Given the description of an element on the screen output the (x, y) to click on. 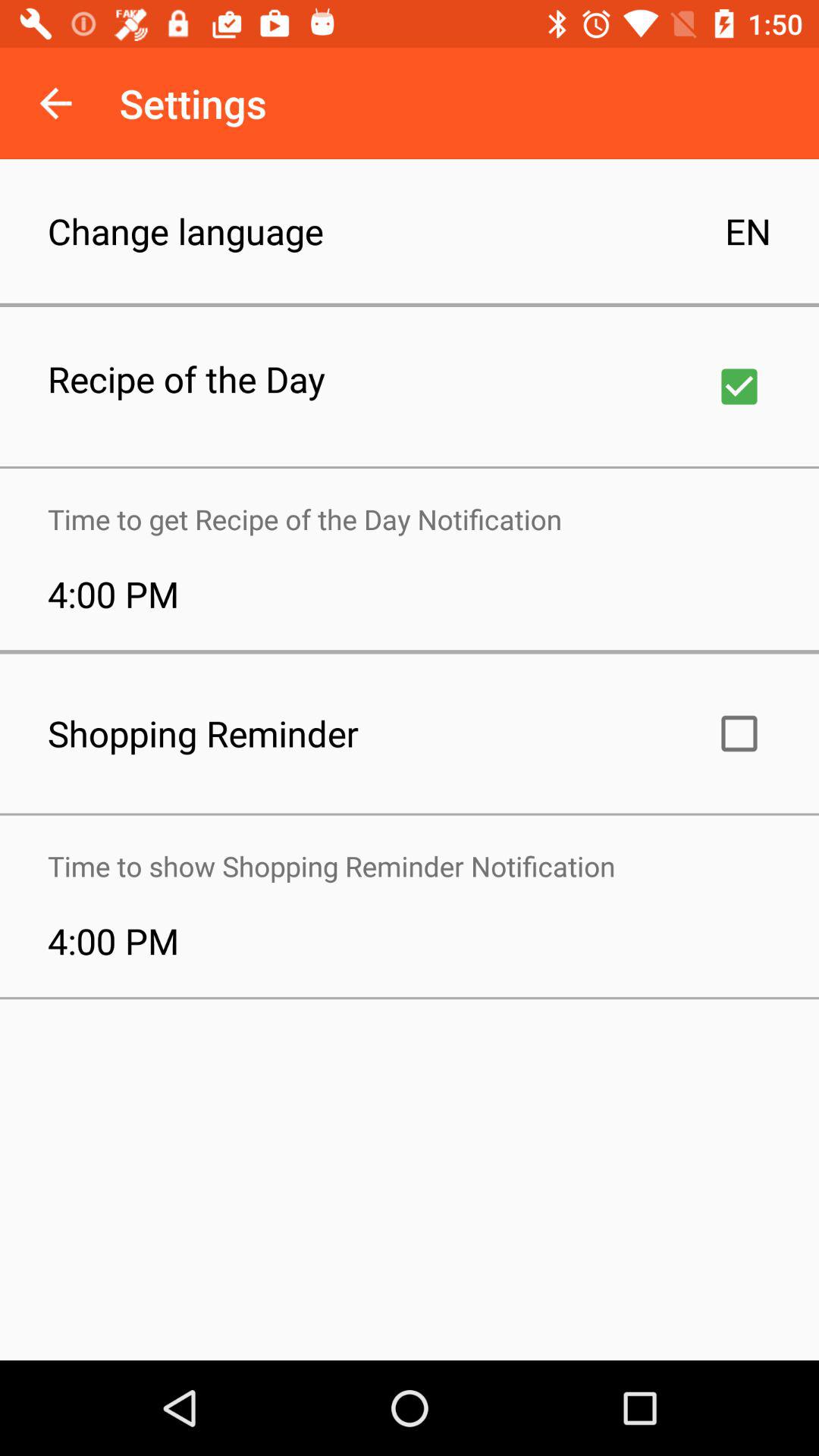
toggle shopping reminder (739, 733)
